Given the description of an element on the screen output the (x, y) to click on. 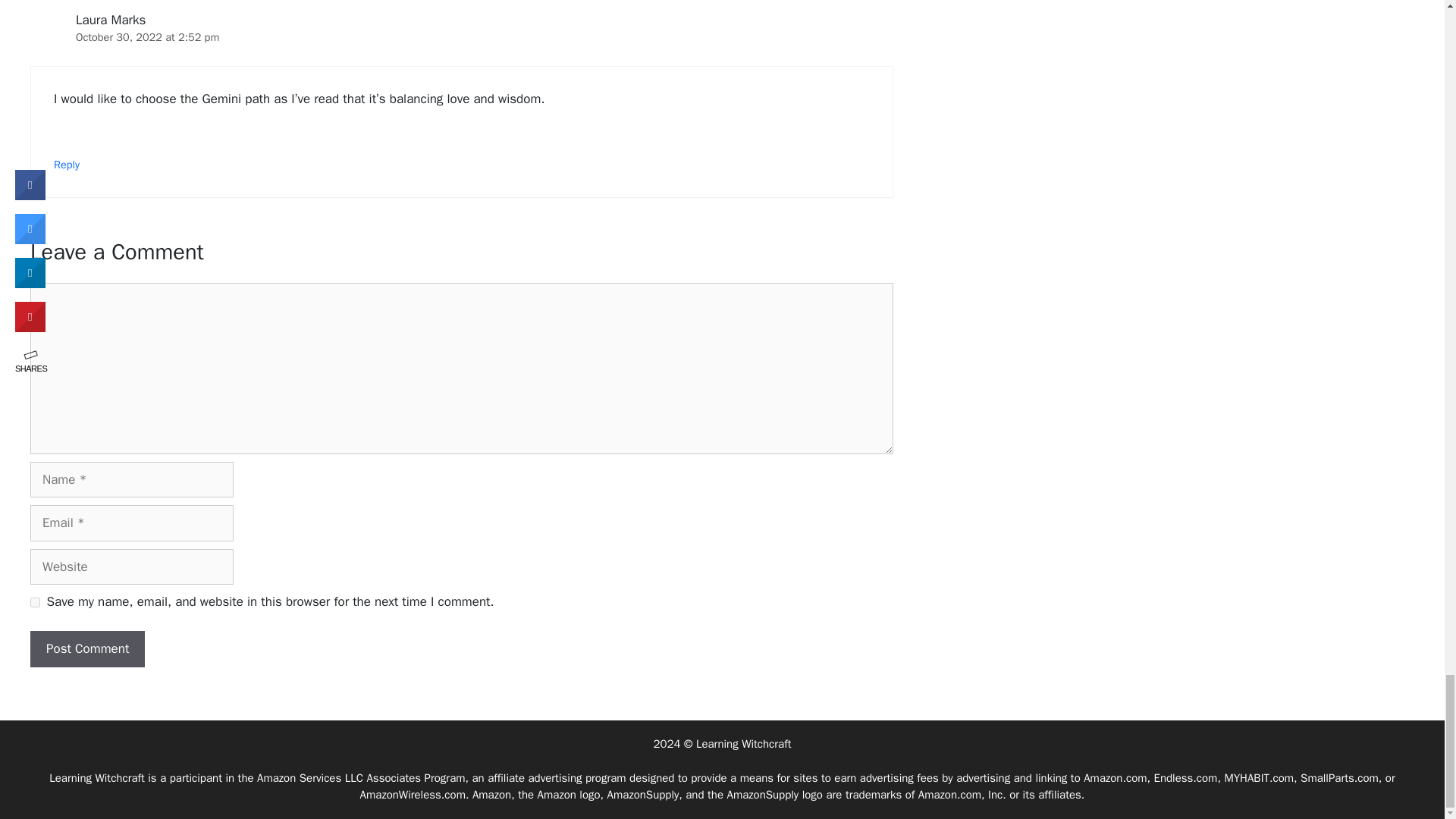
Post Comment (87, 648)
yes (35, 602)
